Given the description of an element on the screen output the (x, y) to click on. 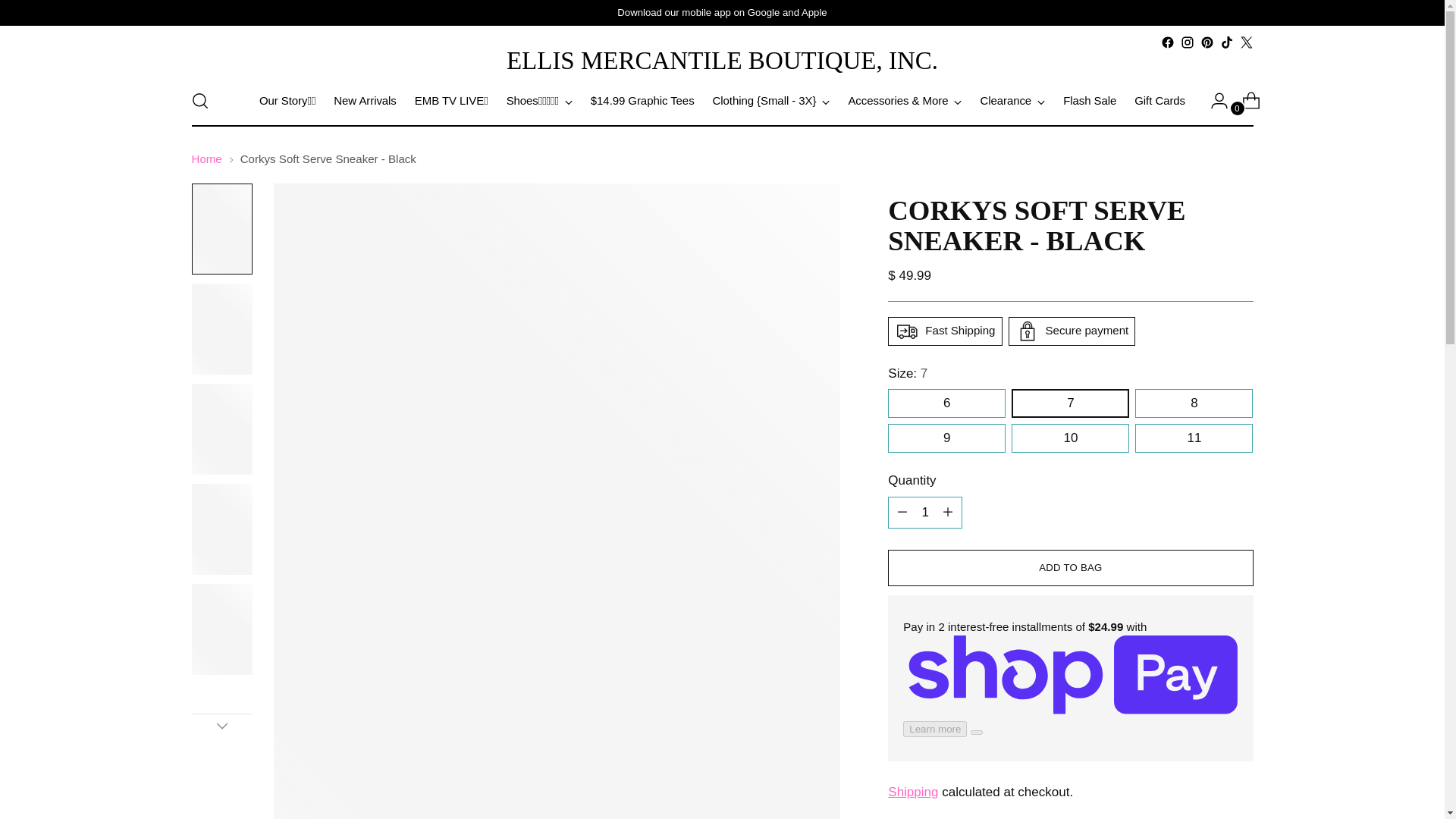
New Arrivals (364, 100)
Ellis Mercantile Boutique, Inc. on Instagram (1186, 42)
Ellis Mercantile Boutique, Inc. on Twitter (1245, 42)
1 (925, 512)
Ellis Mercantile Boutique, Inc. on Pinterest (1205, 42)
Ellis Mercantile Boutique, Inc. on Facebook (1166, 42)
Ellis Mercantile Boutique, Inc. on Tiktok (1226, 42)
ELLIS MERCANTILE BOUTIQUE, INC. (721, 60)
Down (220, 725)
